Given the description of an element on the screen output the (x, y) to click on. 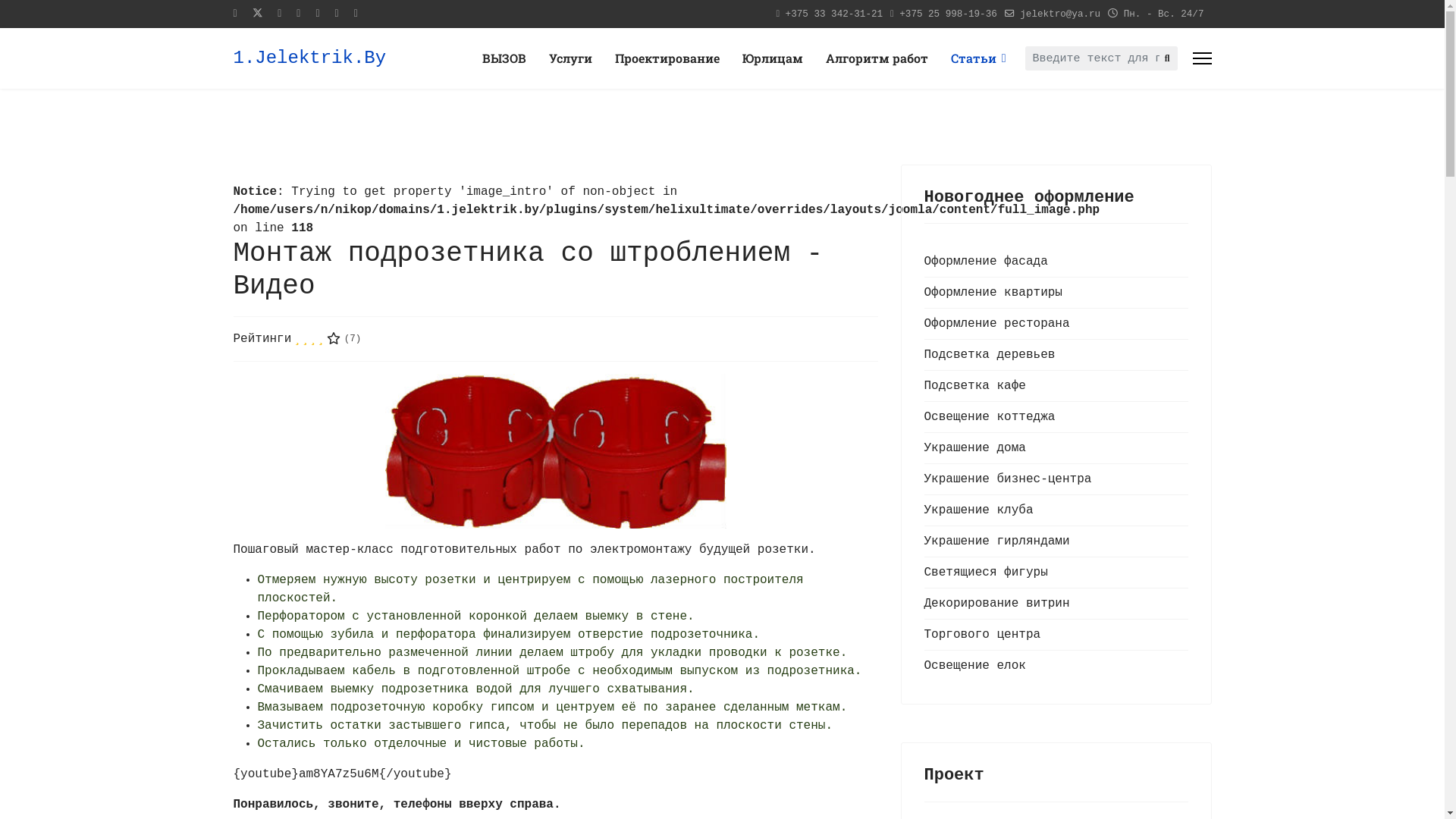
+375 25 998-19-36 Element type: text (947, 14)
jelektro@ya.ru Element type: text (1059, 14)
+375 33 342-31-21 Element type: text (833, 14)
1.Jelektrik.By Element type: text (309, 58)
